Given the description of an element on the screen output the (x, y) to click on. 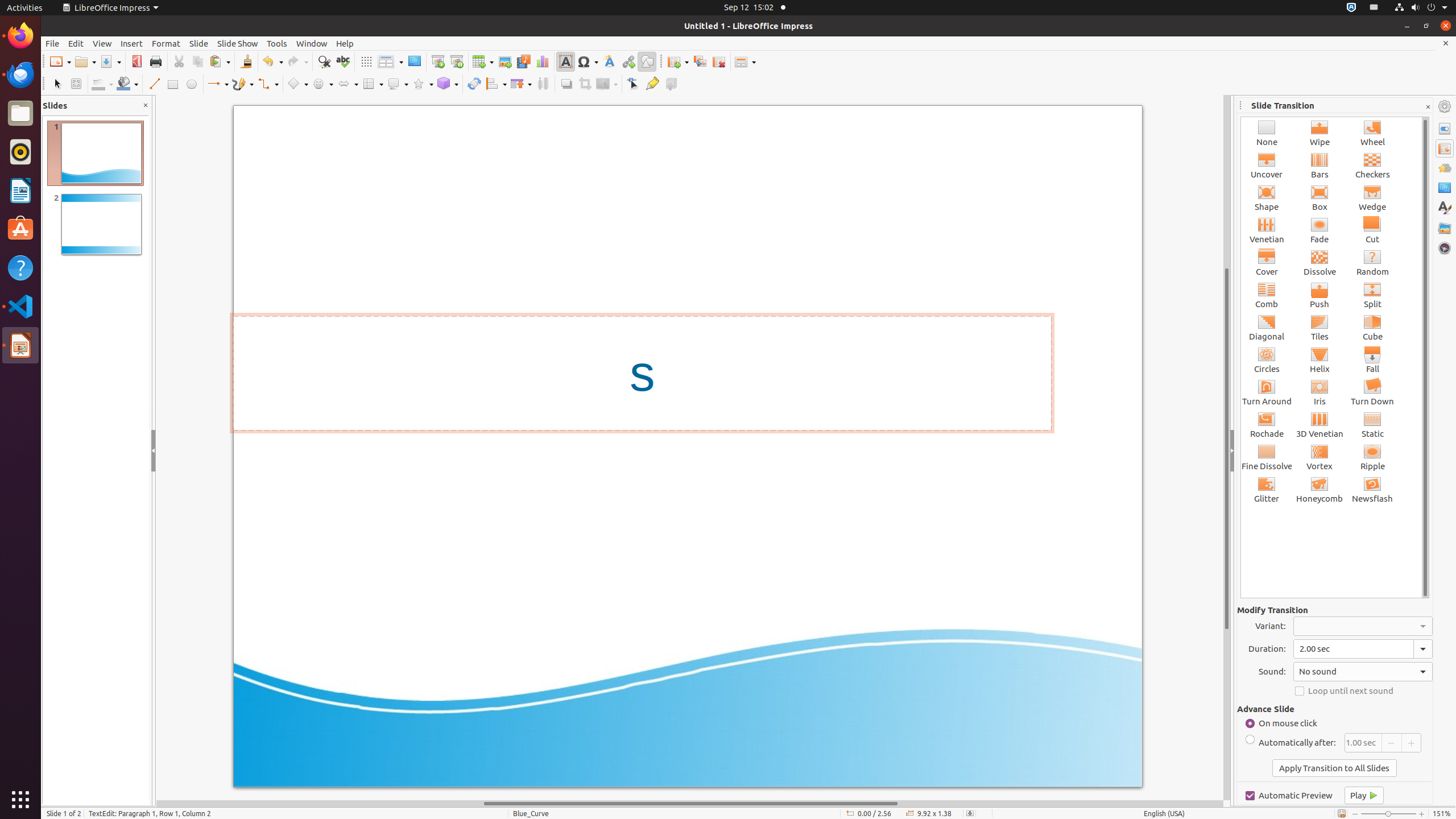
Fontwork Style Element type: toggle-button (609, 61)
Slide Layout Element type: push-button (744, 61)
Rectangle Element type: push-button (172, 83)
Automatic Preview Element type: check-box (1288, 795)
Spelling Element type: push-button (342, 61)
